Given the description of an element on the screen output the (x, y) to click on. 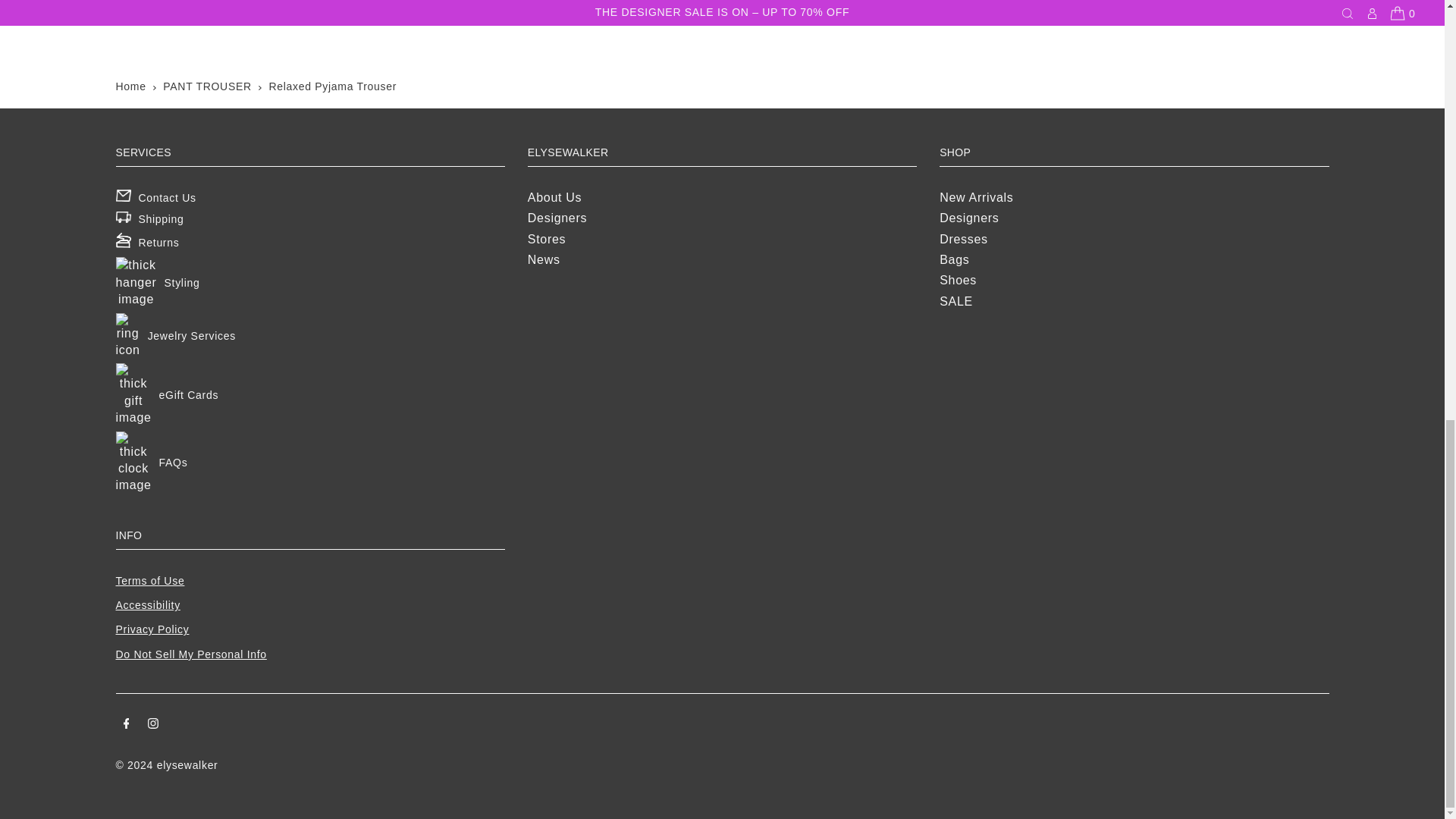
Accessibility Statement (147, 604)
Terms Of Use (149, 580)
Home (130, 86)
PANT TROUSER (207, 86)
